Given the description of an element on the screen output the (x, y) to click on. 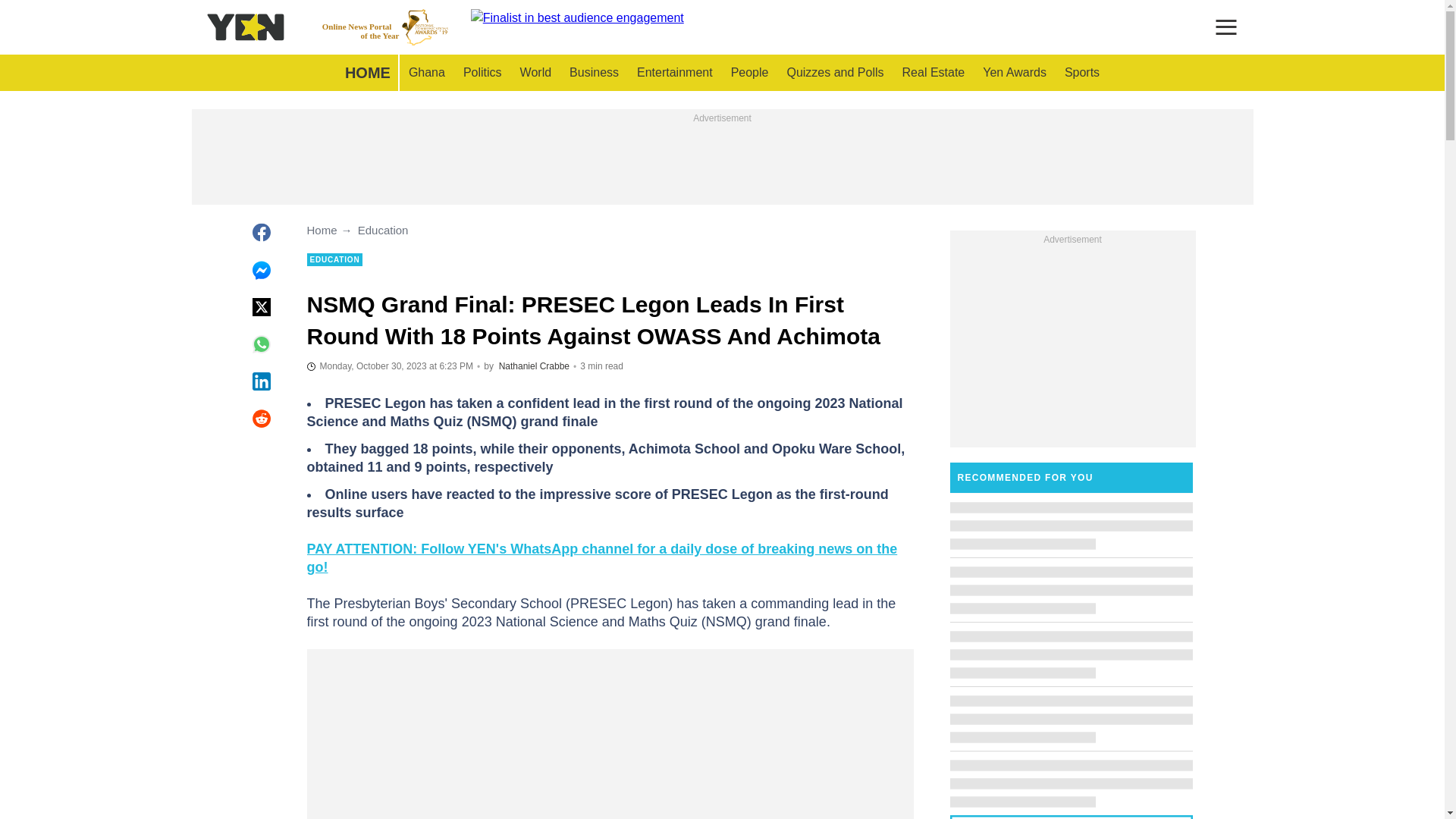
HOME (367, 72)
World (535, 72)
2023-10-30T18:23:26Z (389, 366)
Entertainment (674, 72)
Business (593, 72)
Yen Awards (1014, 72)
WhatsApp Channel (384, 27)
Politics (600, 557)
Real Estate (482, 72)
People (933, 72)
Author page (749, 72)
Ghana (534, 366)
Sports (426, 72)
Quizzes and Polls (1081, 72)
